Given the description of an element on the screen output the (x, y) to click on. 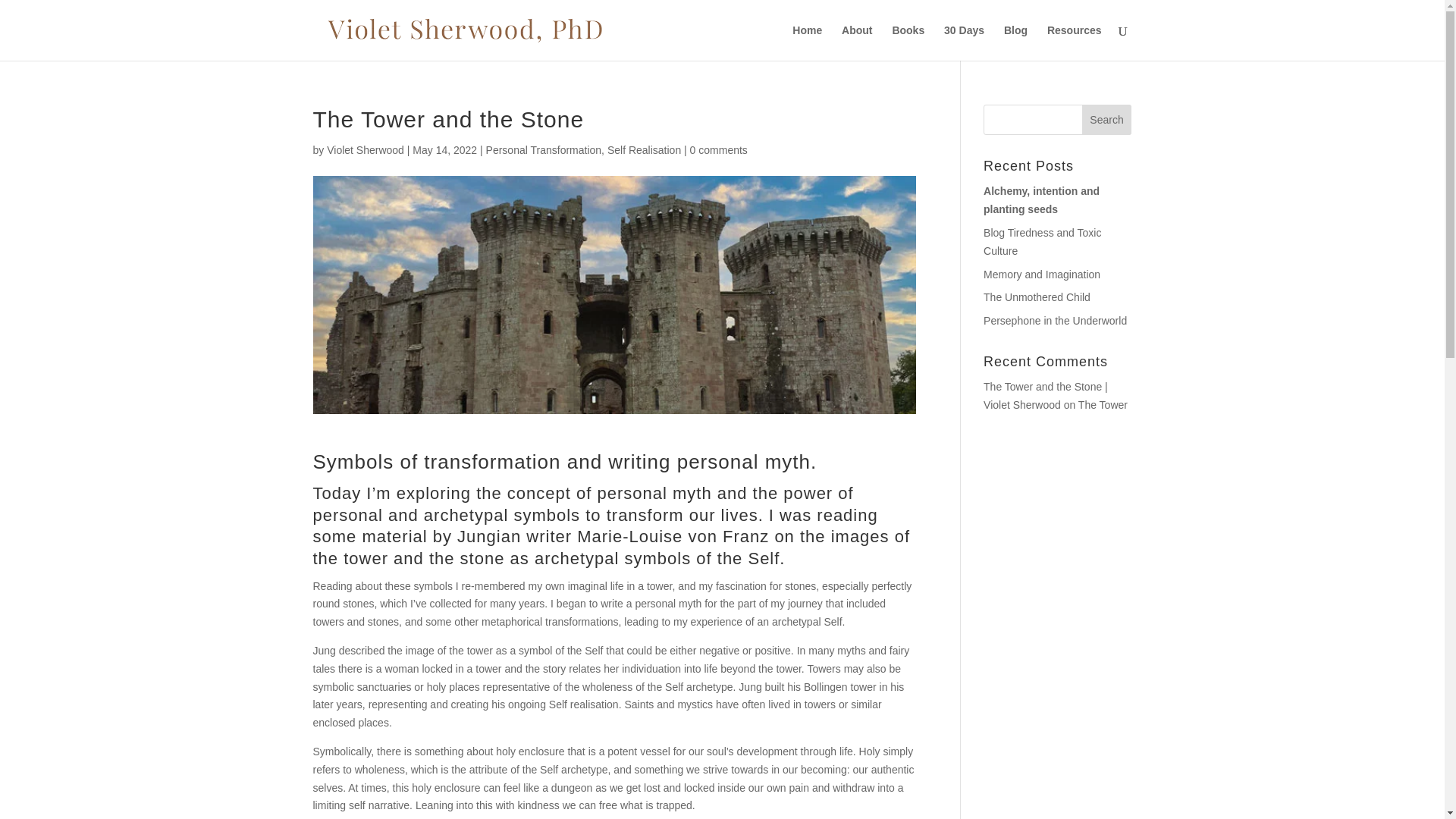
30 Days (963, 42)
Blog Tiredness and Toxic Culture (1042, 241)
0 comments (719, 150)
The Tower (1102, 404)
Persephone in the Underworld (1055, 320)
The Unmothered Child (1037, 297)
Personal Transformation (544, 150)
Violet Sherwood (365, 150)
Search (1106, 119)
Books (907, 42)
Search (1106, 119)
Resources (1074, 42)
Self Realisation (644, 150)
Posts by Violet Sherwood (365, 150)
Memory and Imagination (1042, 274)
